Given the description of an element on the screen output the (x, y) to click on. 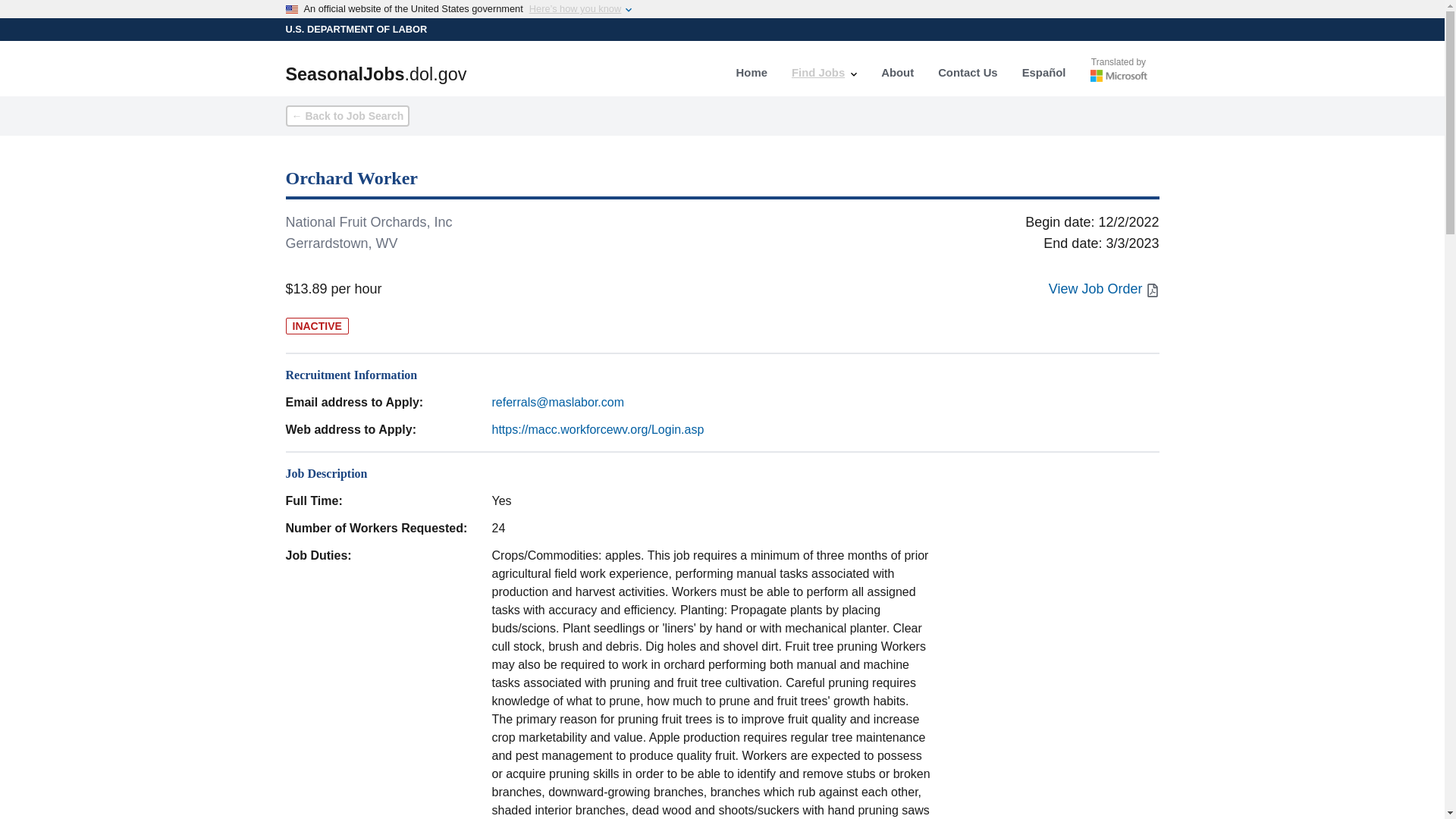
Find Jobs (823, 73)
Contact Us (968, 73)
Orchard Worker (721, 182)
Translated by (1118, 72)
Home (750, 73)
View Job Order (1103, 288)
About (897, 73)
